Given the description of an element on the screen output the (x, y) to click on. 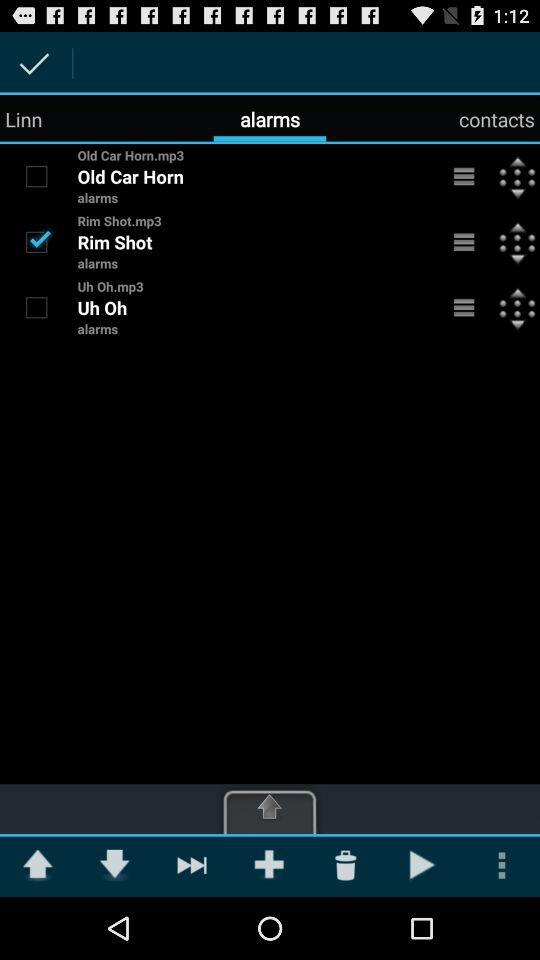
open mp3 menu (463, 307)
